Given the description of an element on the screen output the (x, y) to click on. 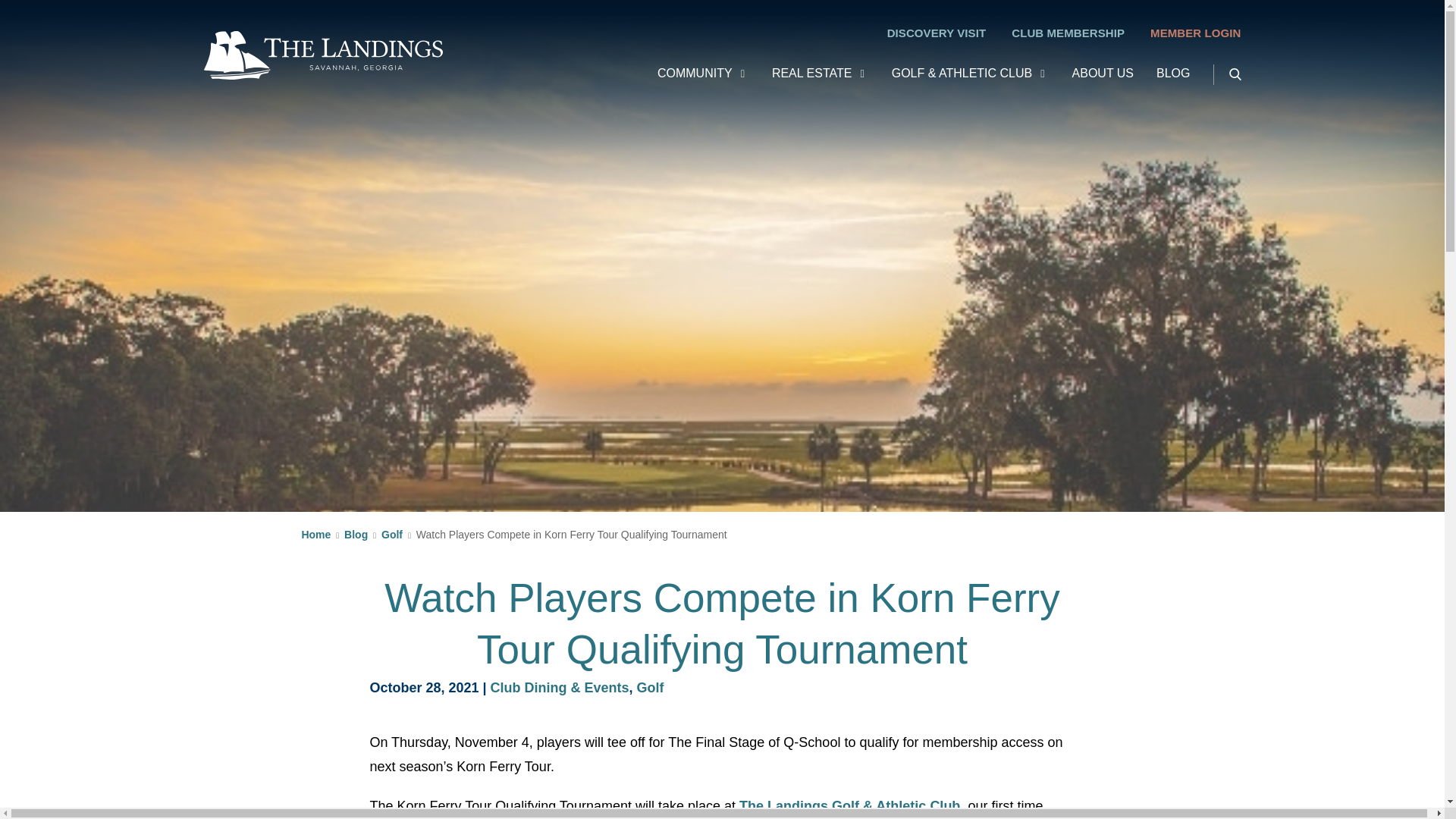
MEMBER LOGIN (1195, 32)
CLUB MEMBERSHIP (1067, 32)
DISCOVERY VISIT (936, 32)
REAL ESTATE (811, 77)
Open menu (1040, 77)
COMMUNITY (695, 77)
Open menu (740, 77)
Open menu (859, 77)
